Given the description of an element on the screen output the (x, y) to click on. 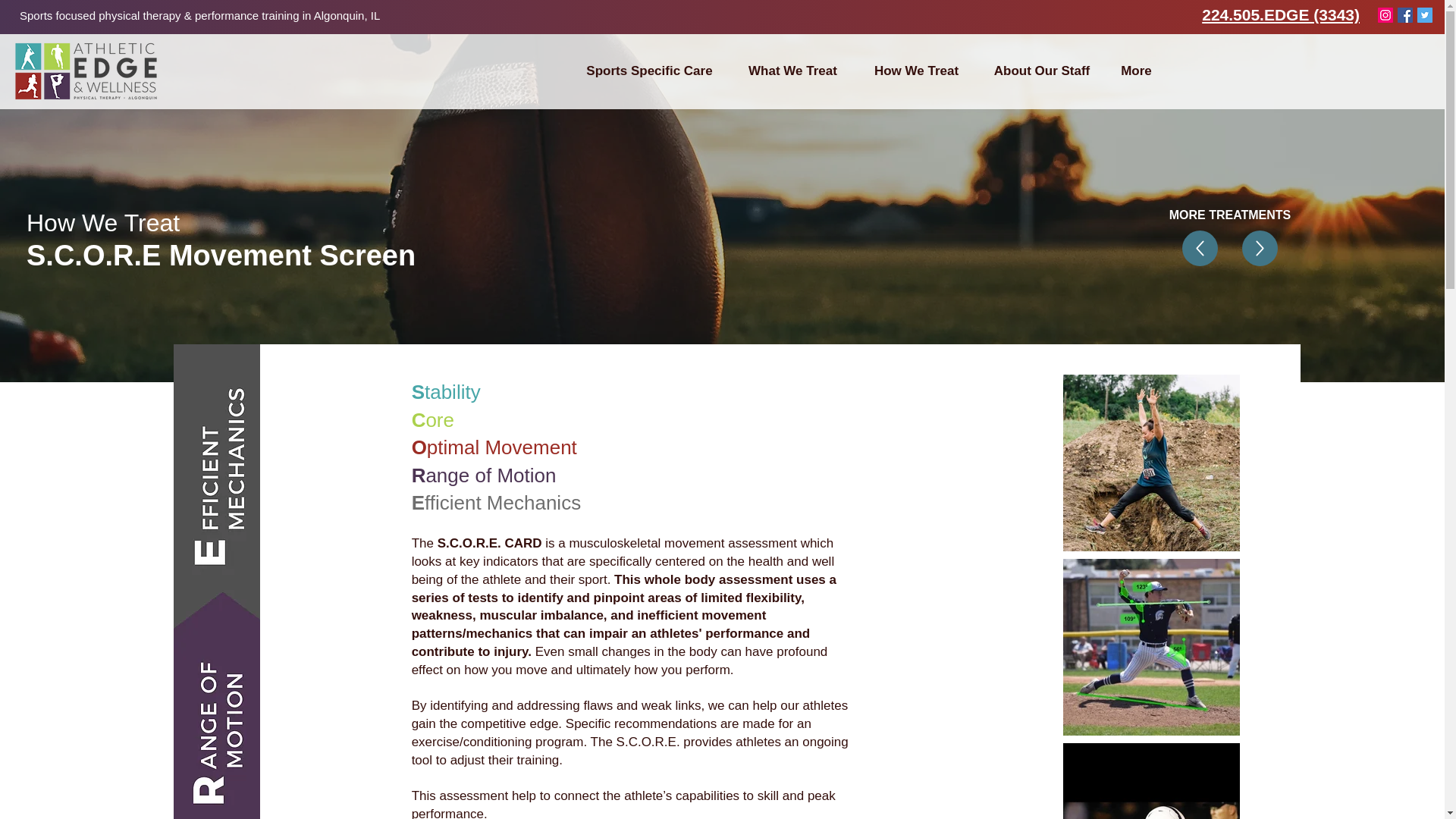
What We Treat (792, 71)
How We Treat (916, 71)
Sports Specific Care (649, 71)
About Our Staff (1041, 71)
